Given the description of an element on the screen output the (x, y) to click on. 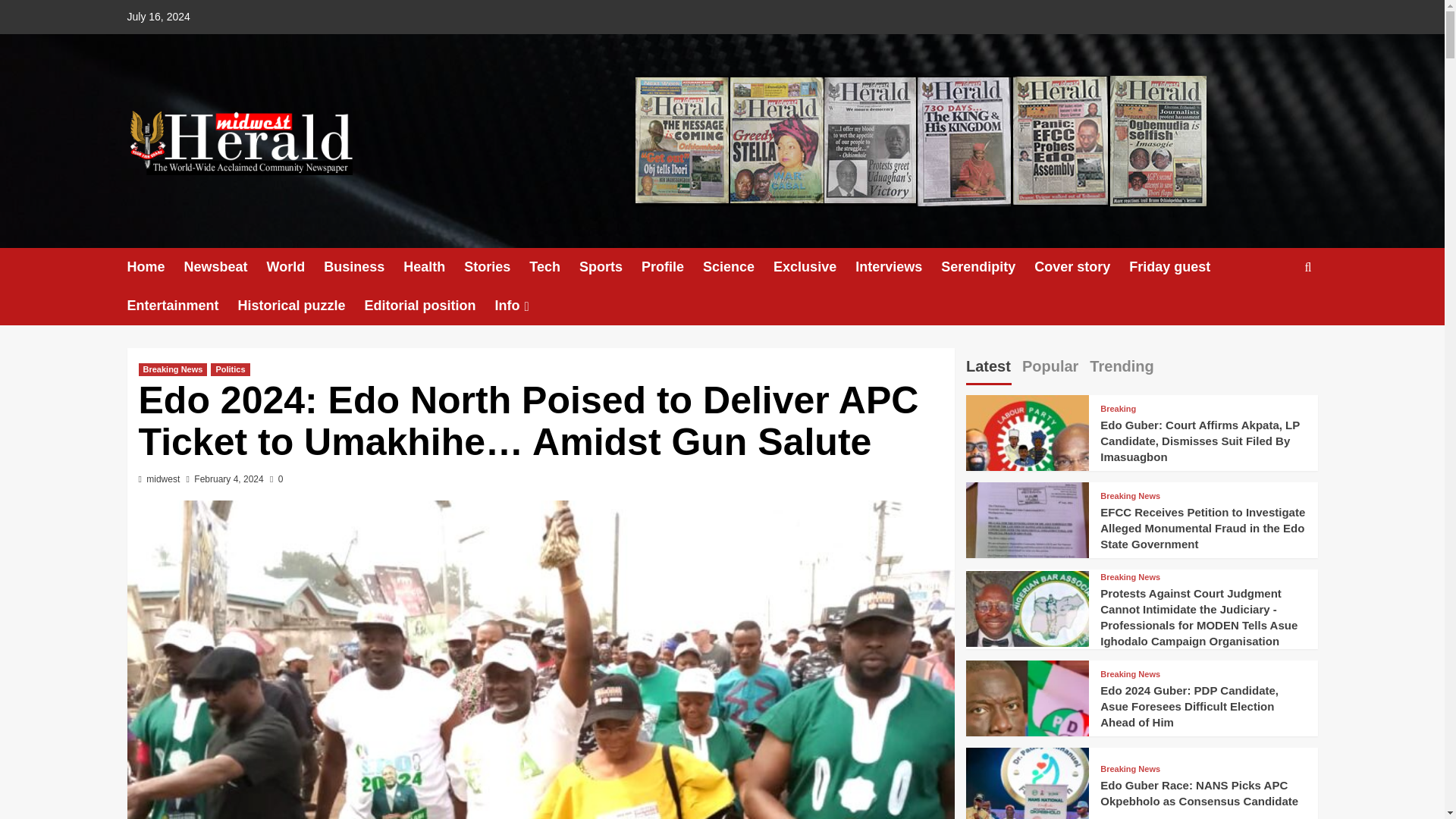
Search (1272, 314)
Newsbeat (225, 267)
Business (363, 267)
Politics (229, 369)
February 4, 2024 (228, 479)
Sports (610, 267)
Friday guest (1178, 267)
Stories (496, 267)
Historical puzzle (301, 305)
Breaking News (172, 369)
Editorial position (430, 305)
Cover story (1081, 267)
World (295, 267)
midwest (163, 479)
Tech (554, 267)
